Given the description of an element on the screen output the (x, y) to click on. 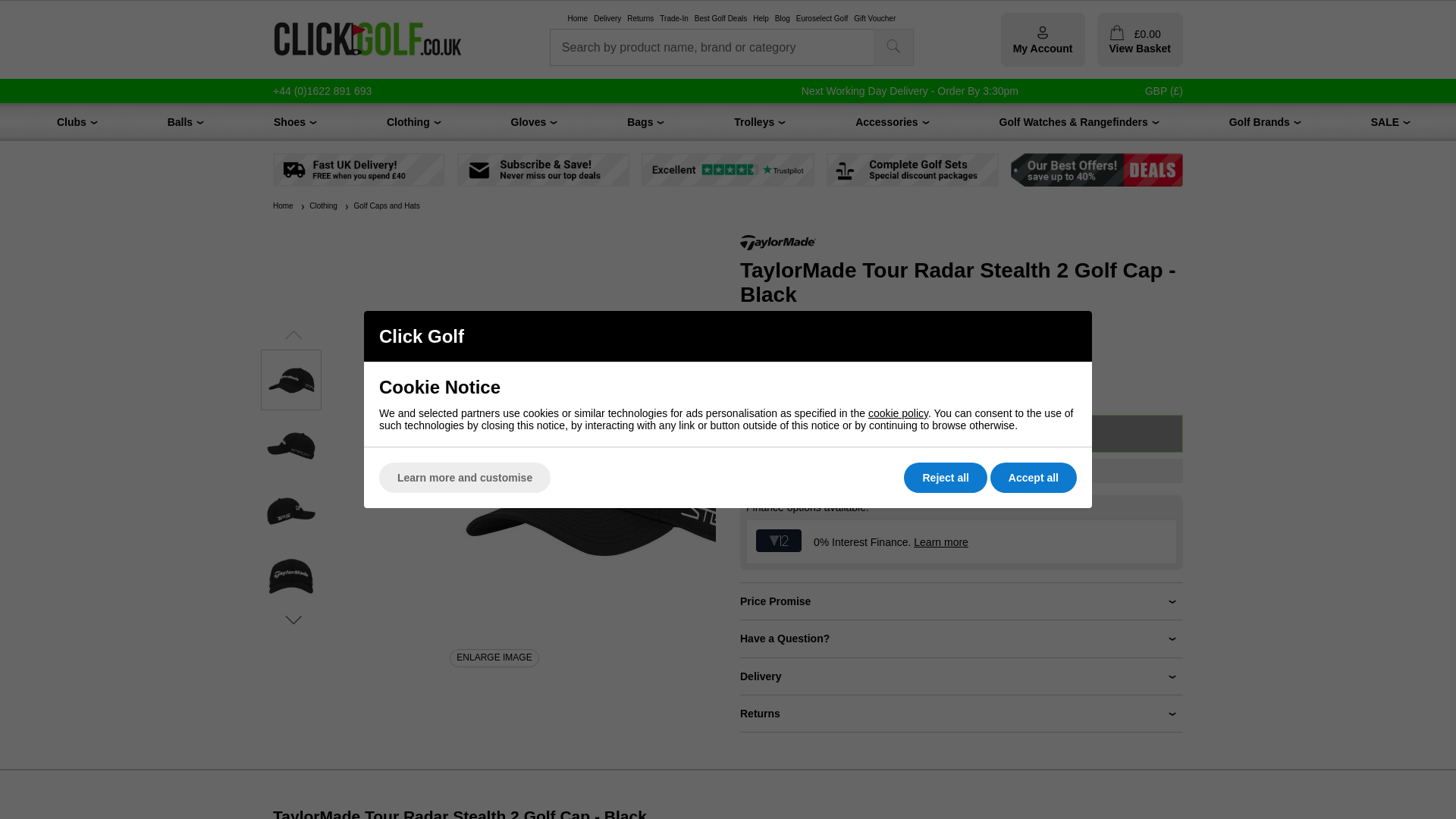
Help (760, 18)
1 (762, 448)
Delivery (607, 18)
Best Golf Deals (720, 18)
TaylorMade Tour Radar Stealth 2 Golf Cap - Black (290, 379)
My Account (1042, 39)
Trade-In (673, 18)
TaylorMade Tour Radar Stealth 2 Golf Cap - Black (290, 575)
Home (577, 18)
Prices displayed in GBP (1163, 91)
Balls (179, 121)
Blog (782, 18)
Returns (640, 18)
TaylorMade Tour Radar Stealth 2 Golf Cap - Black (290, 444)
Euroselect Golf (821, 18)
